Given the description of an element on the screen output the (x, y) to click on. 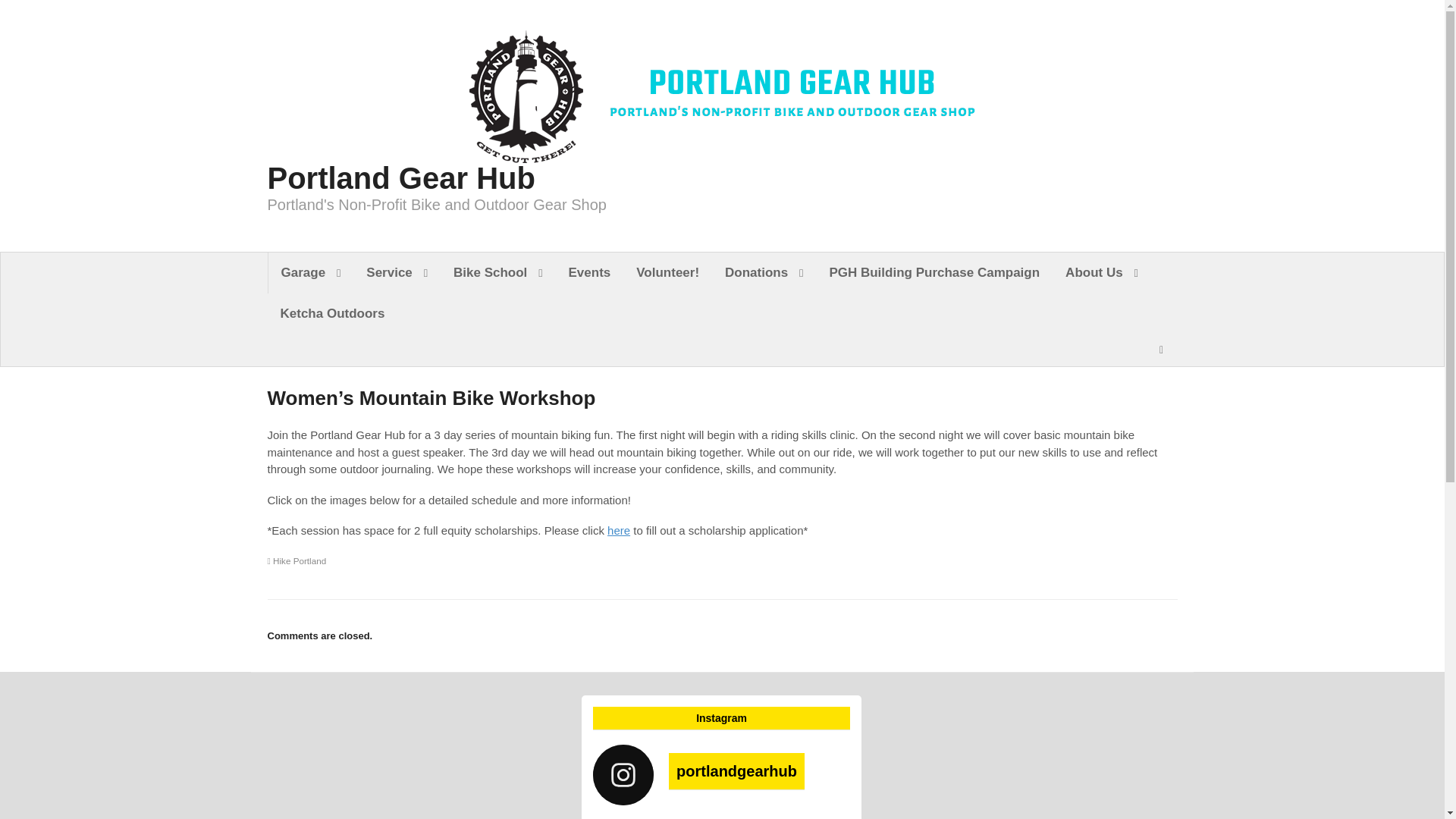
Donations (763, 271)
View your shopping cart (1160, 350)
portlandgearhub (721, 774)
Service (397, 271)
Ketcha Outdoors (331, 313)
Volunteer! (667, 271)
Bike School (498, 271)
Events (590, 271)
PGH Building Purchase Campaign (933, 271)
Hike Portland (296, 560)
